Given the description of an element on the screen output the (x, y) to click on. 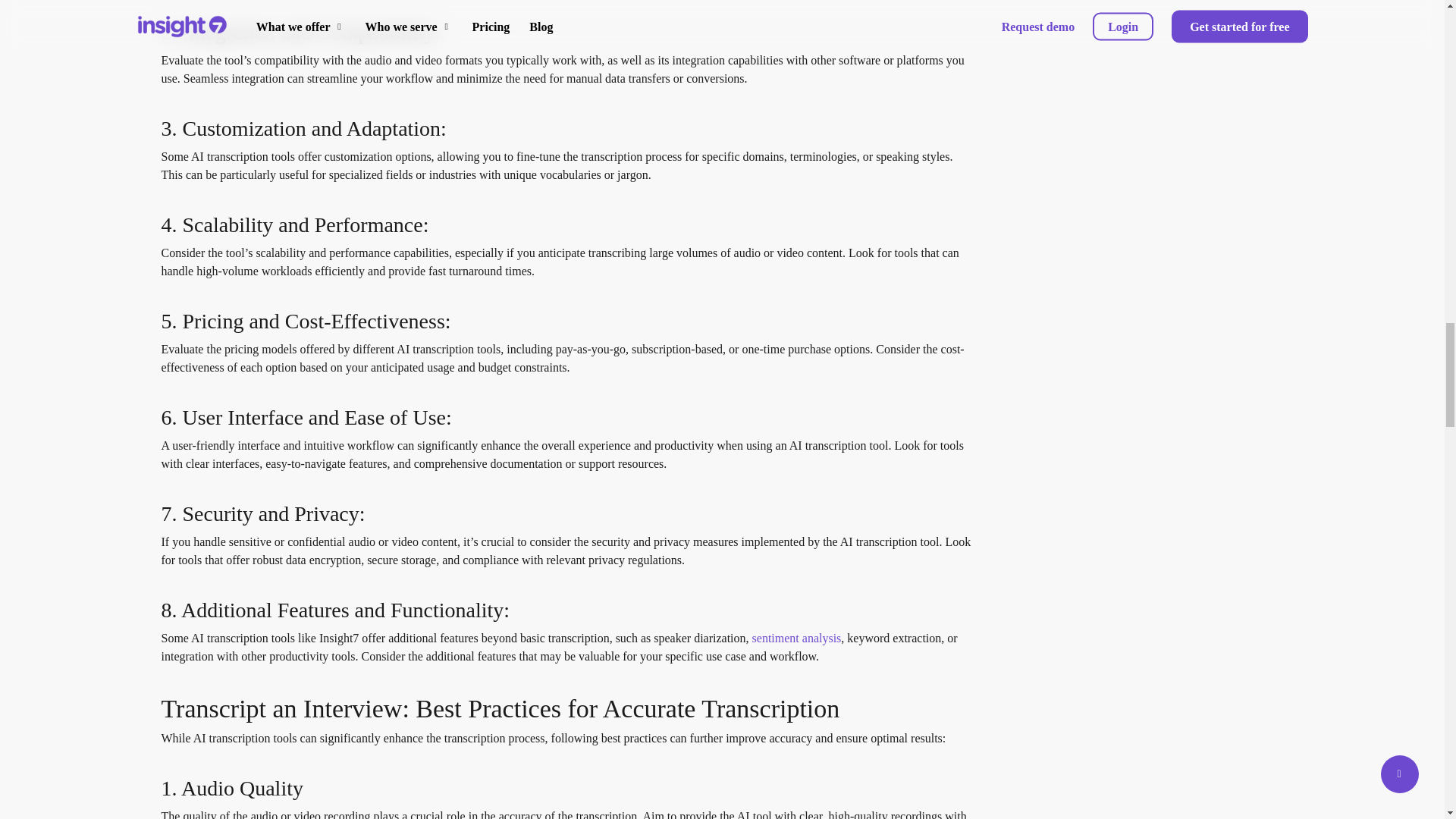
sentiment analysis (796, 637)
